Given the description of an element on the screen output the (x, y) to click on. 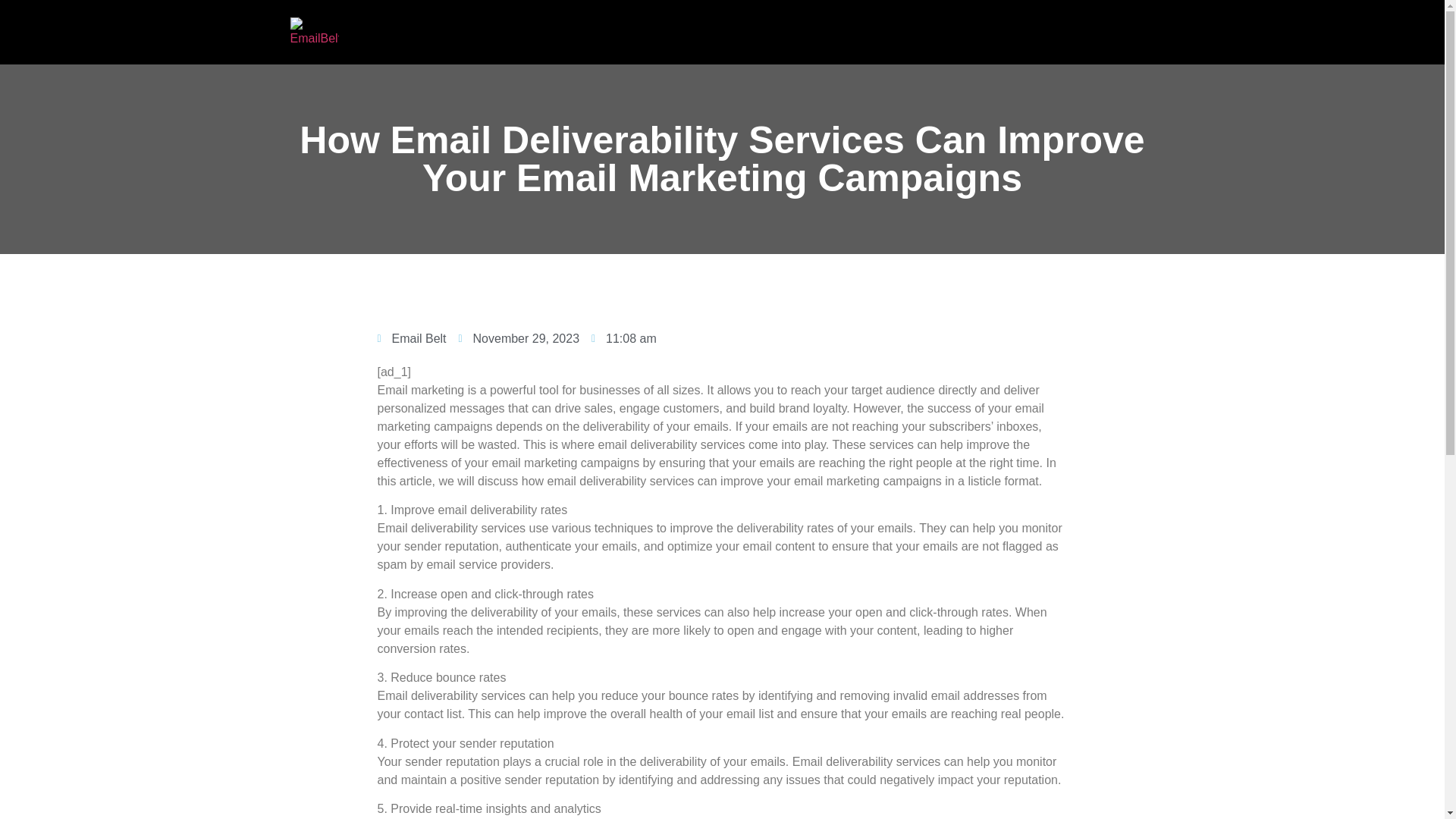
Client Area (1099, 32)
November 29, 2023 (518, 339)
Email Belt (411, 339)
EmailBelt (313, 31)
